Given the description of an element on the screen output the (x, y) to click on. 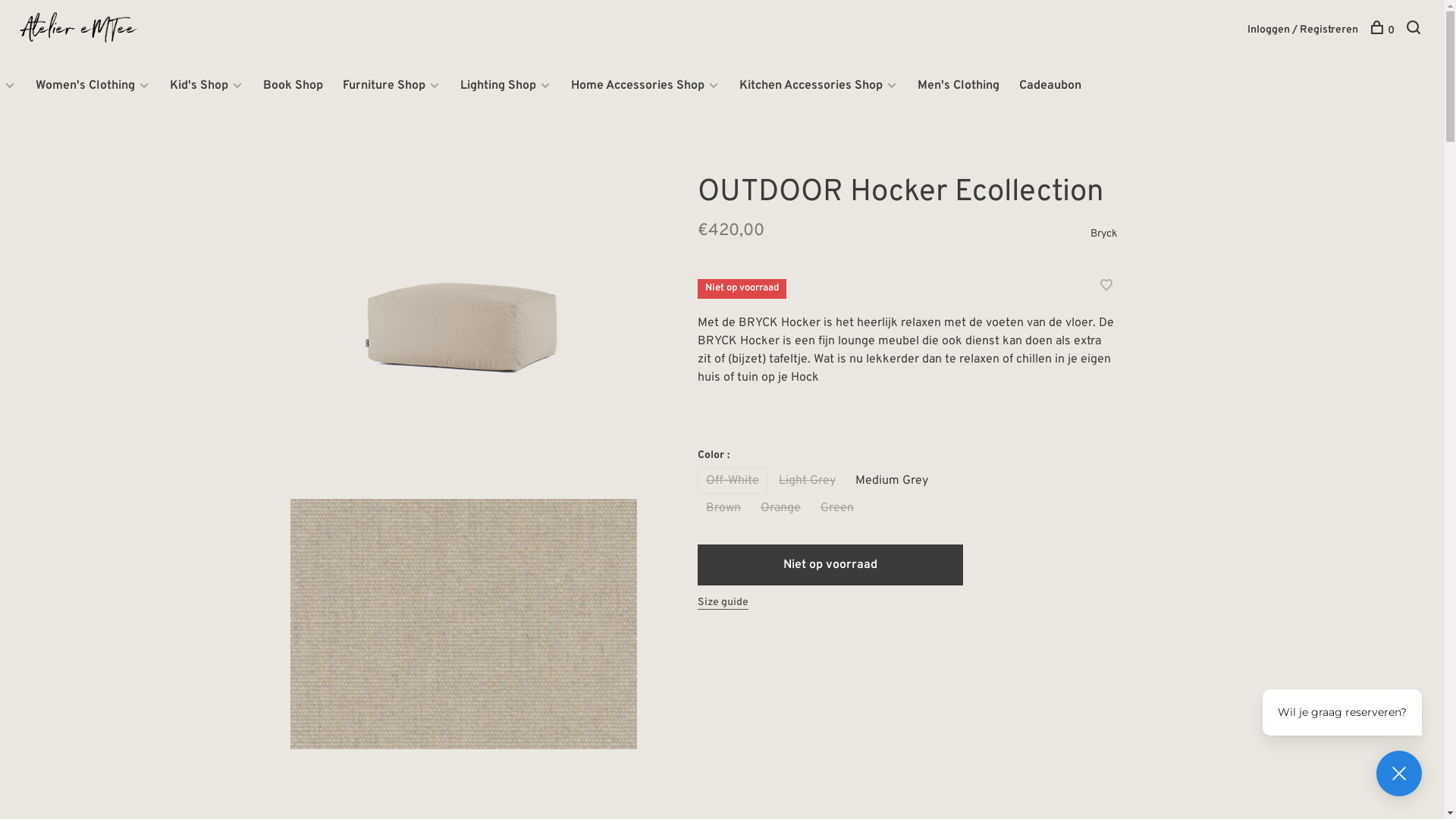
Green Element type: text (837, 507)
Medium Grey Element type: text (891, 480)
Men's Clothing Element type: text (958, 85)
Light Grey Element type: text (807, 480)
Niet op voorraad Element type: text (830, 564)
Zoeken Element type: hover (1415, 30)
Bryck Element type: text (1103, 233)
Orange Element type: text (780, 507)
Cadeaubon Element type: text (1050, 85)
Brown Element type: text (723, 507)
Kid's Shop Element type: text (198, 85)
0 Element type: text (1382, 30)
Lighting Shop Element type: text (498, 85)
Women's Clothing Element type: text (84, 85)
Size guide Element type: text (722, 602)
Aan verlanglijst toevoegen Element type: hover (1106, 286)
Furniture Shop Element type: text (383, 85)
Inloggen / Registreren Element type: text (1302, 29)
Off-White Element type: text (732, 480)
Kitchen Accessories Shop Element type: text (810, 85)
Book Shop Element type: text (293, 85)
Home Accessories Shop Element type: text (637, 85)
